Given the description of an element on the screen output the (x, y) to click on. 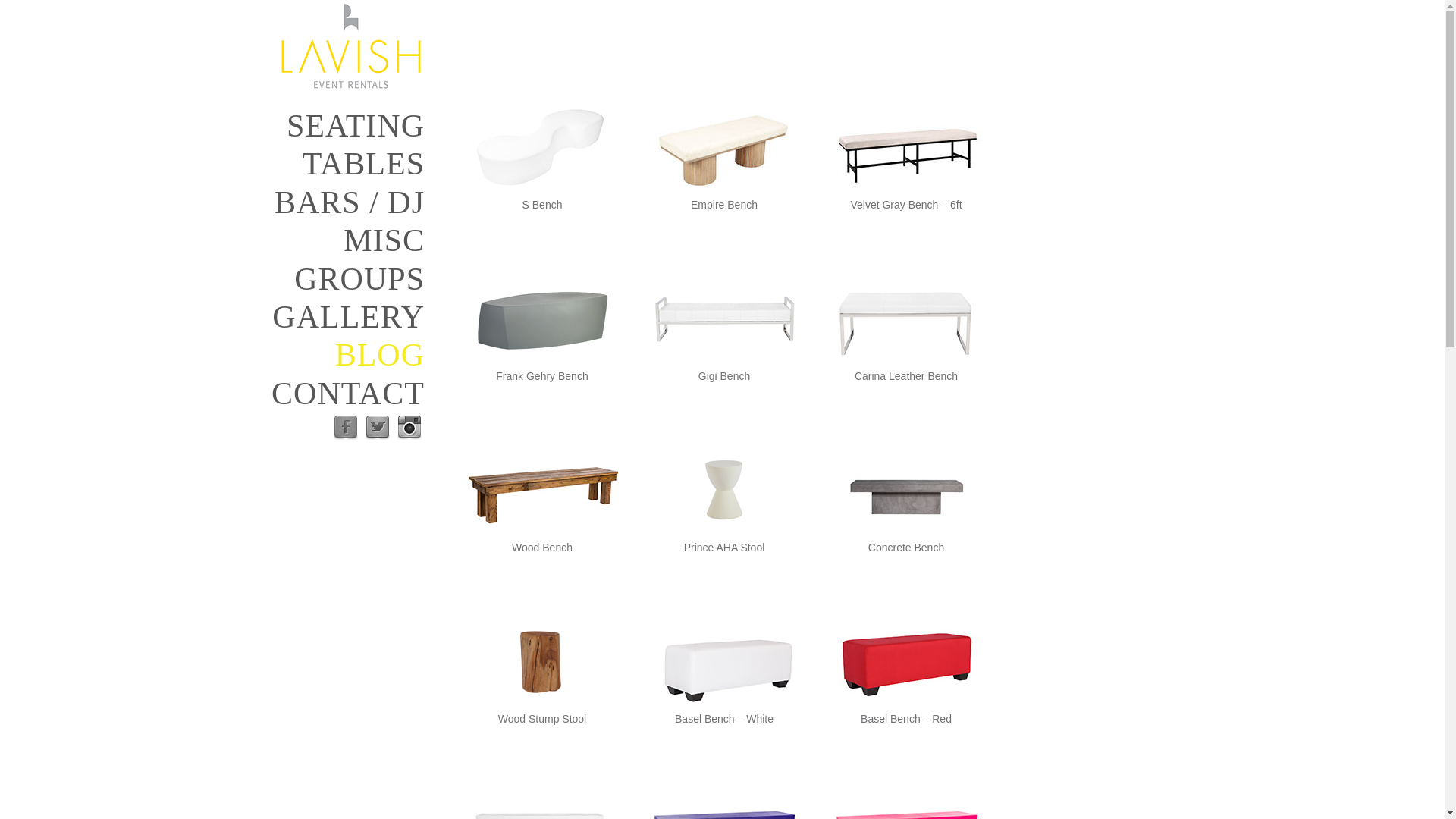
Lavish Event Rentals (350, 45)
CONTACT (341, 393)
BLOG (341, 354)
Facebook (345, 427)
Instagram (409, 427)
Twitter (377, 427)
TABLES (341, 163)
MISC (341, 240)
Lavish Event Rentals (350, 45)
GROUPS (341, 279)
SEATING (341, 125)
GALLERY (341, 316)
